Given the description of an element on the screen output the (x, y) to click on. 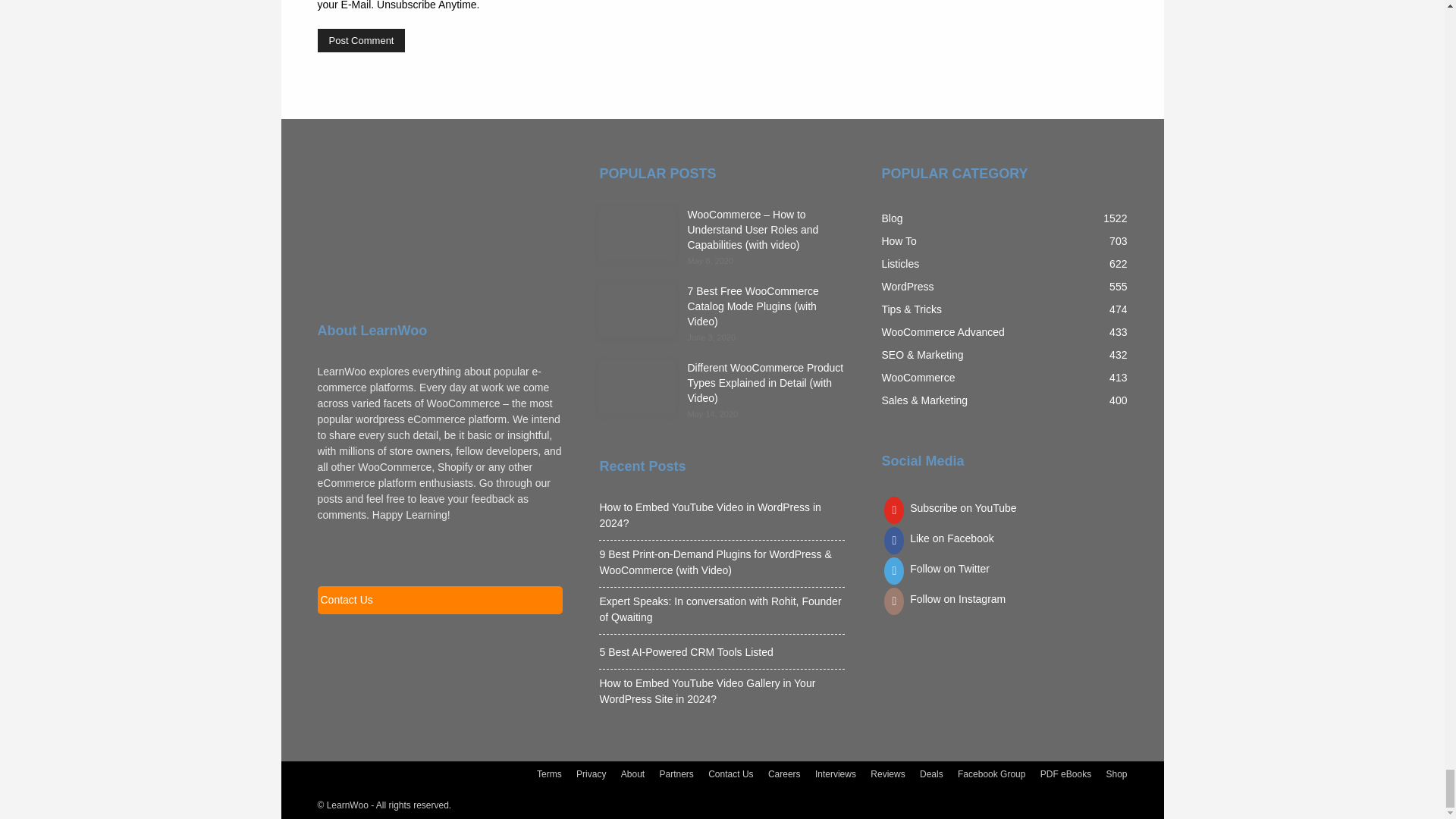
Post Comment (360, 40)
